Given the description of an element on the screen output the (x, y) to click on. 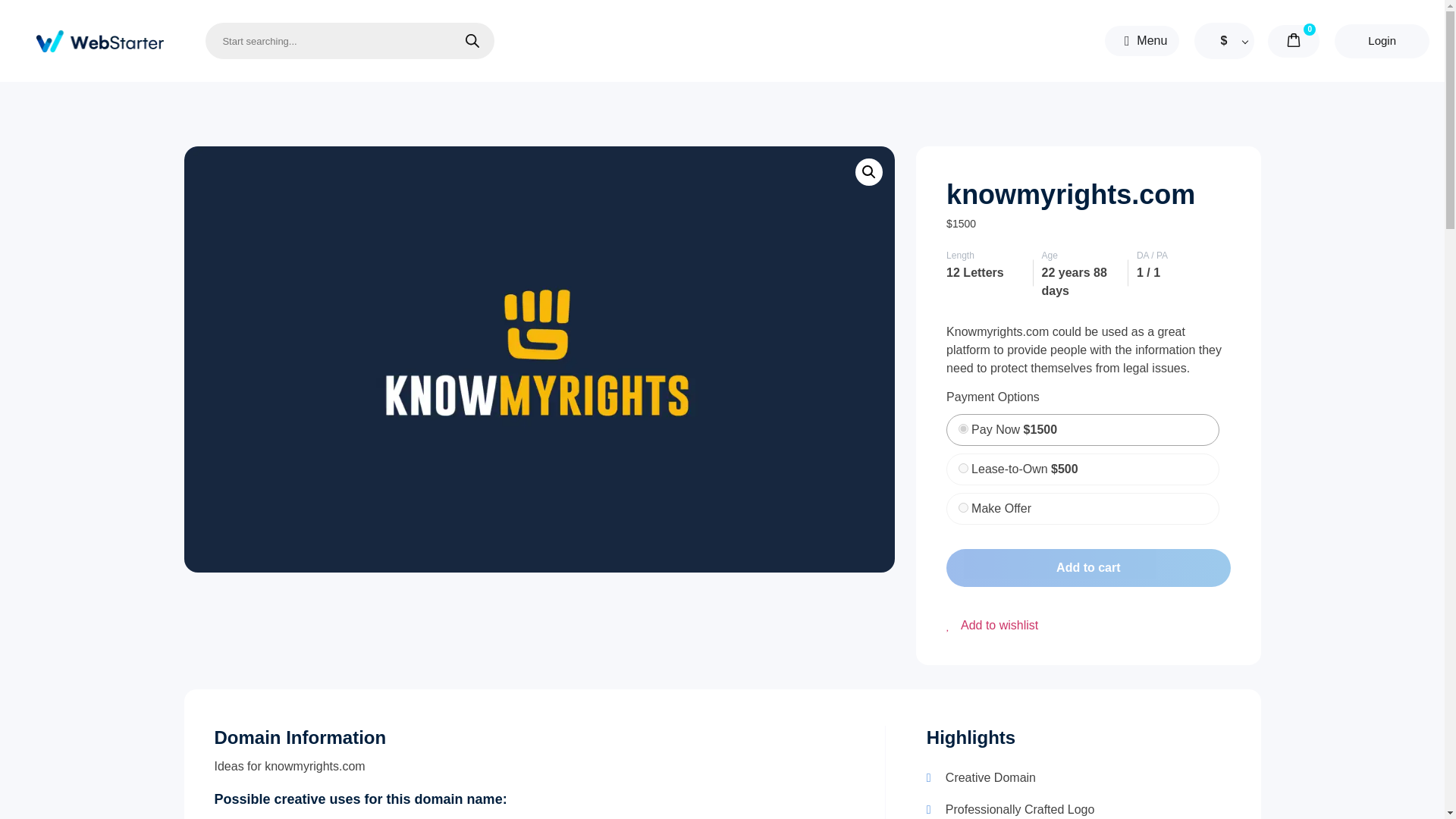
0 (963, 429)
on (963, 507)
